Given the description of an element on the screen output the (x, y) to click on. 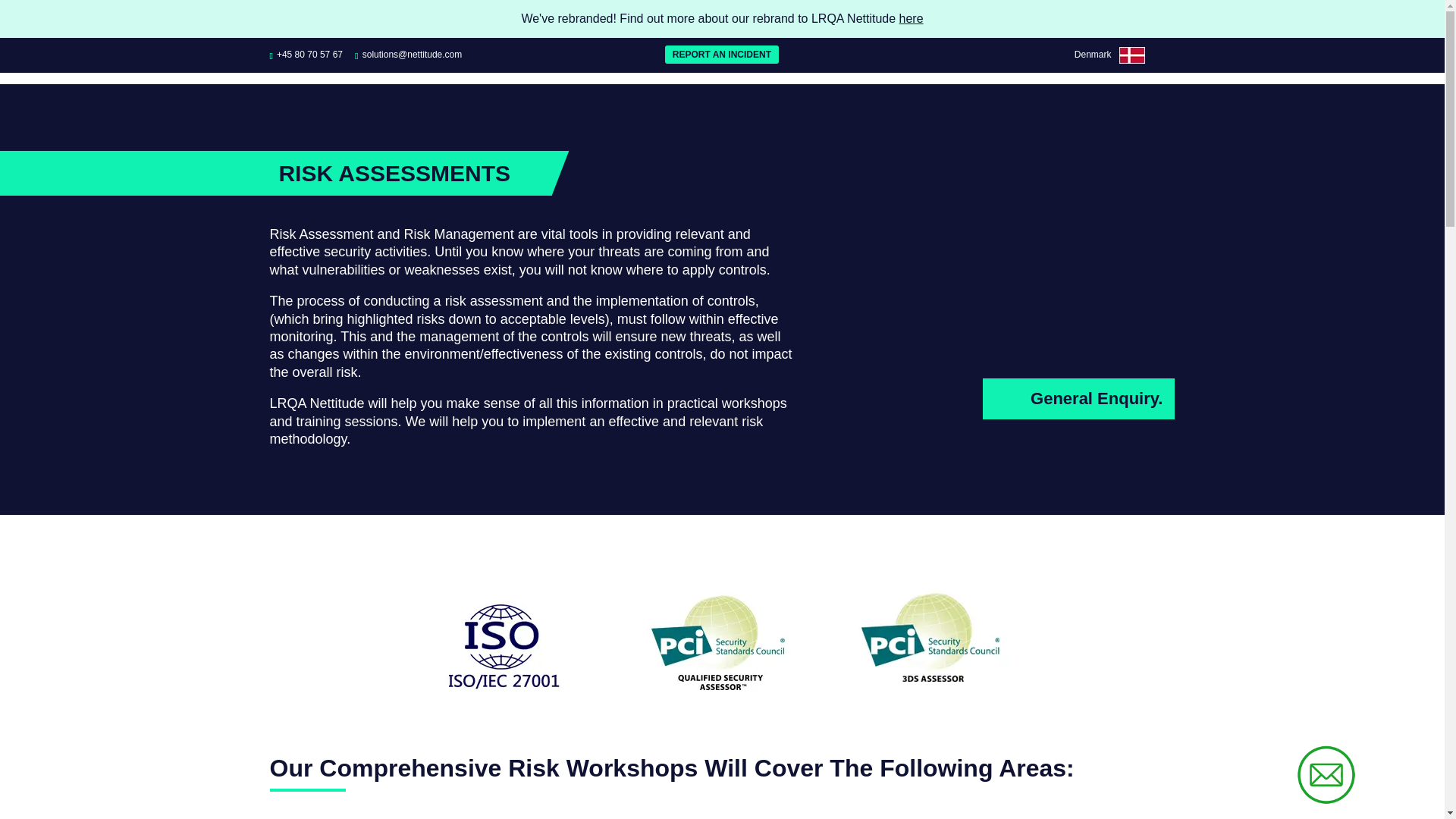
here (911, 18)
Penetration Testing (548, 48)
Denmark (1124, 57)
REPORT AN INCIDENT (721, 54)
Cyber Packages (438, 48)
